Given the description of an element on the screen output the (x, y) to click on. 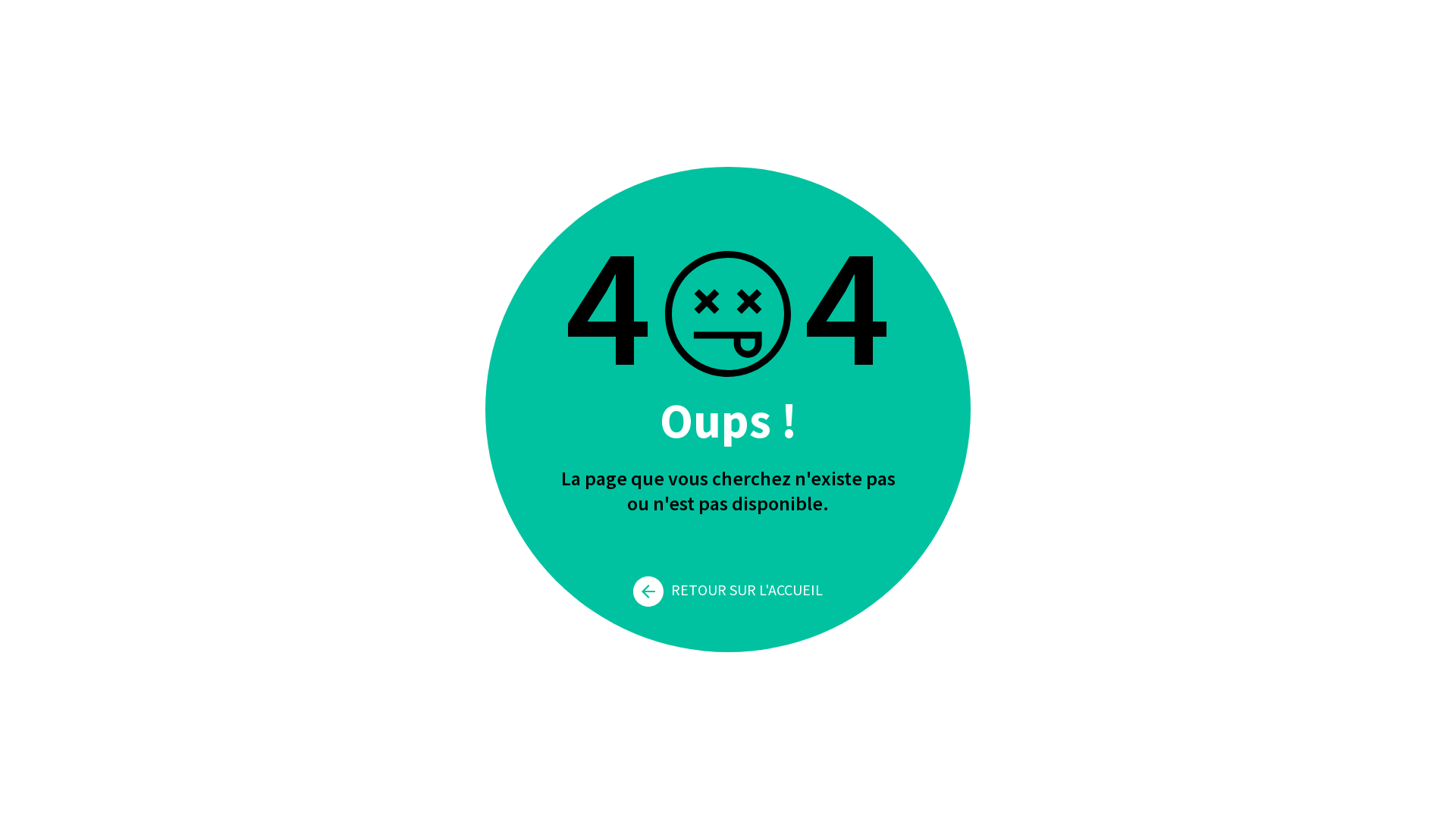
RETOUR SUR L'ACCUEIL Element type: text (727, 589)
